Given the description of an element on the screen output the (x, y) to click on. 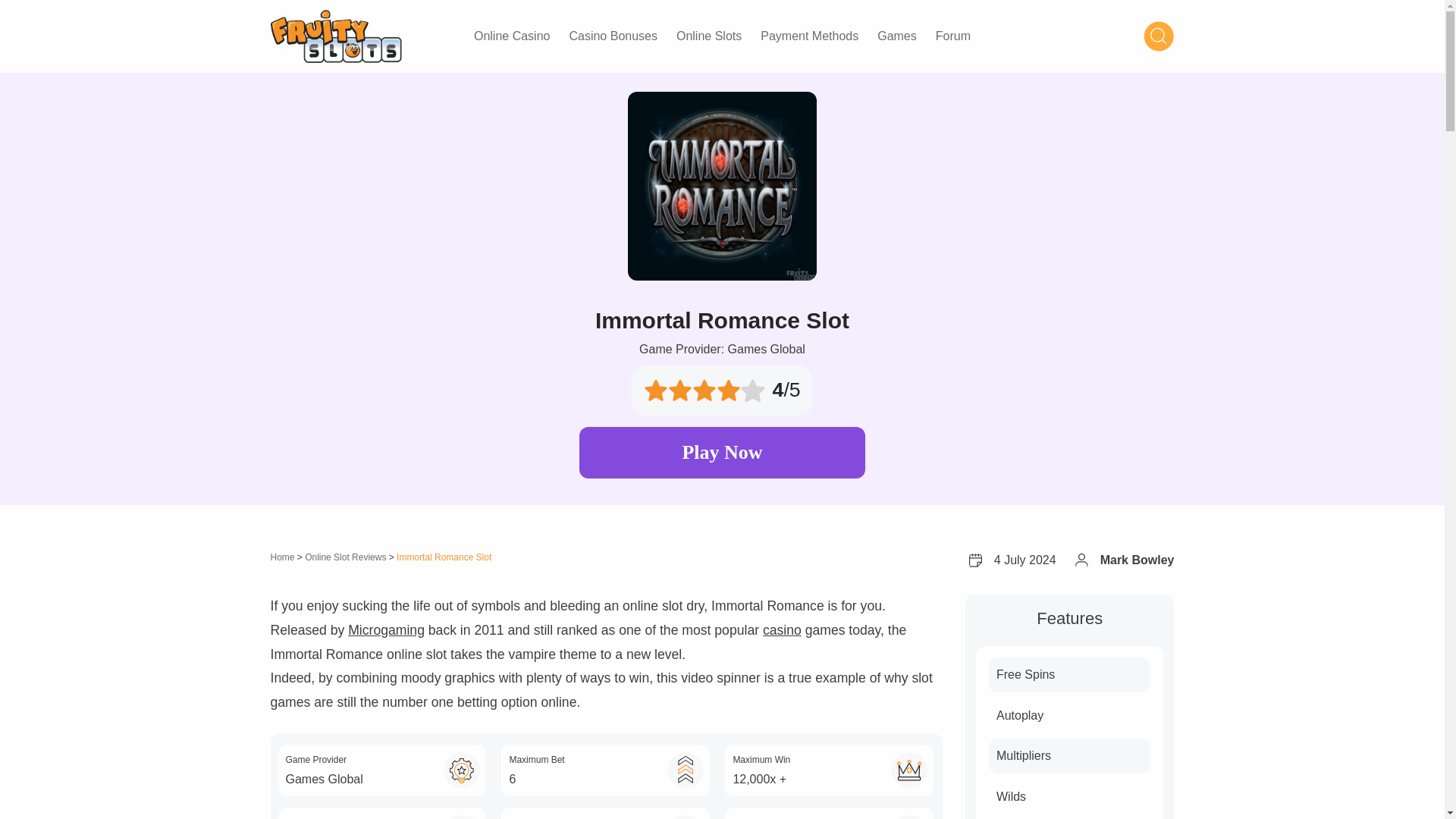
Payment Methods (809, 36)
Fruity Slots (335, 35)
Play Now (721, 452)
Games Global (721, 348)
Search (1157, 36)
Games Global (323, 779)
Online Slots (708, 36)
Online Casino (511, 36)
Casino Bonuses (612, 36)
Posts by Mark Bowley (1137, 559)
